Given the description of an element on the screen output the (x, y) to click on. 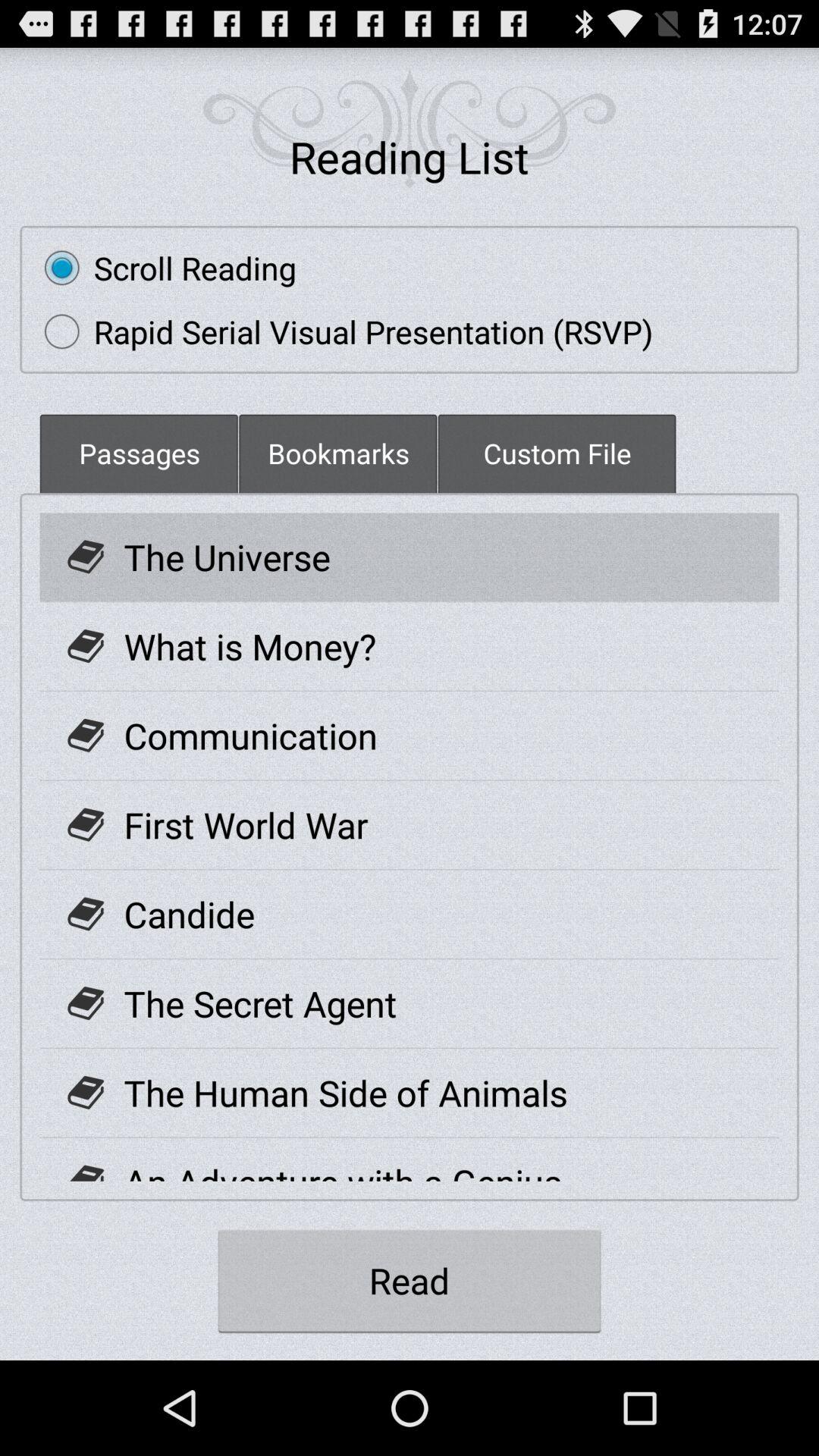
open the icon above the candide (245, 824)
